Given the description of an element on the screen output the (x, y) to click on. 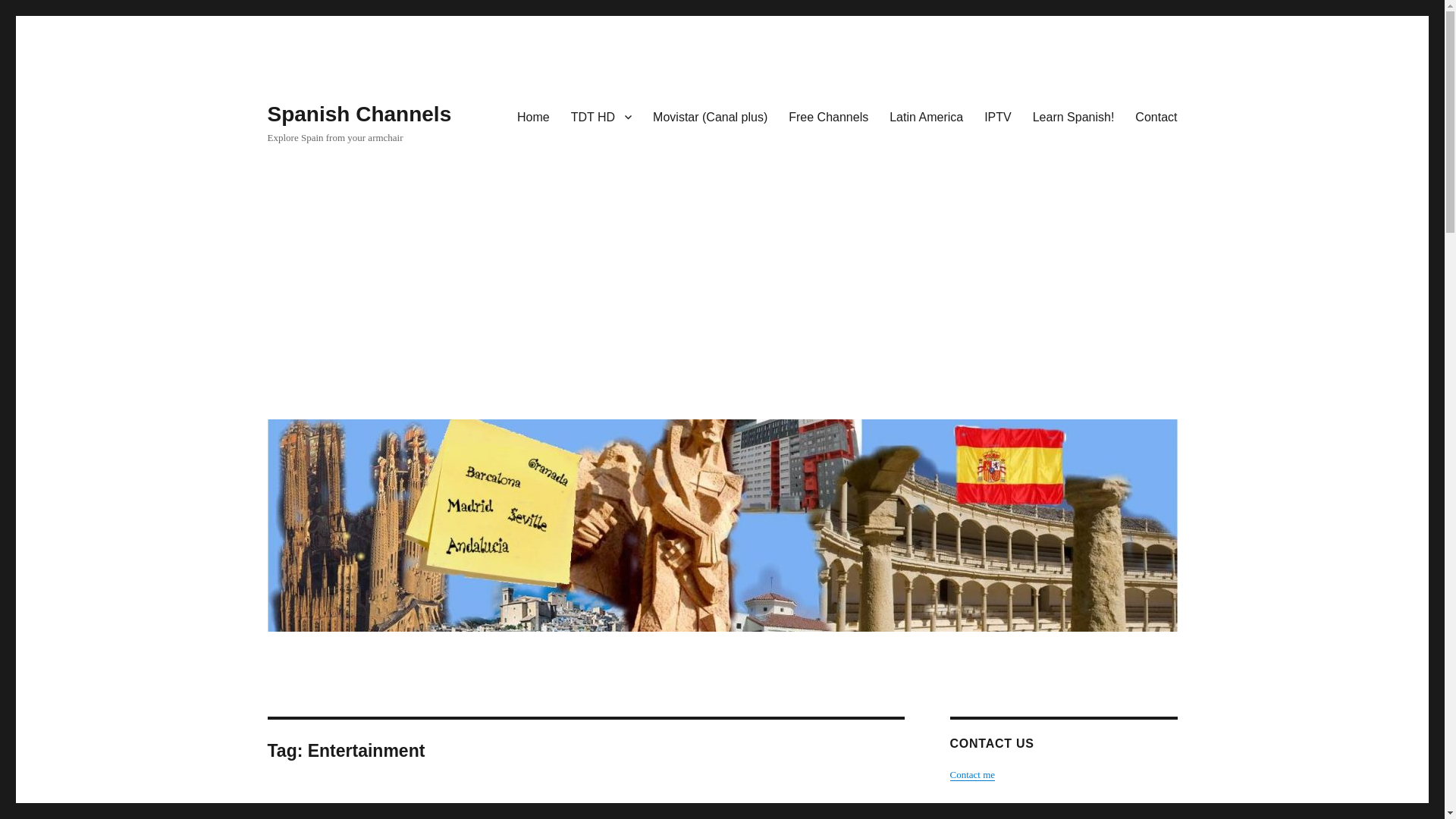
Latin America (926, 116)
Tune in the latest free Spanish Channel Hispan (549, 812)
Contact (1156, 116)
Home (533, 116)
Free Channels (828, 116)
Learn Spanish! (1073, 116)
IPTV (998, 116)
TDT HD (601, 116)
Spanish Channels (358, 114)
